Given the description of an element on the screen output the (x, y) to click on. 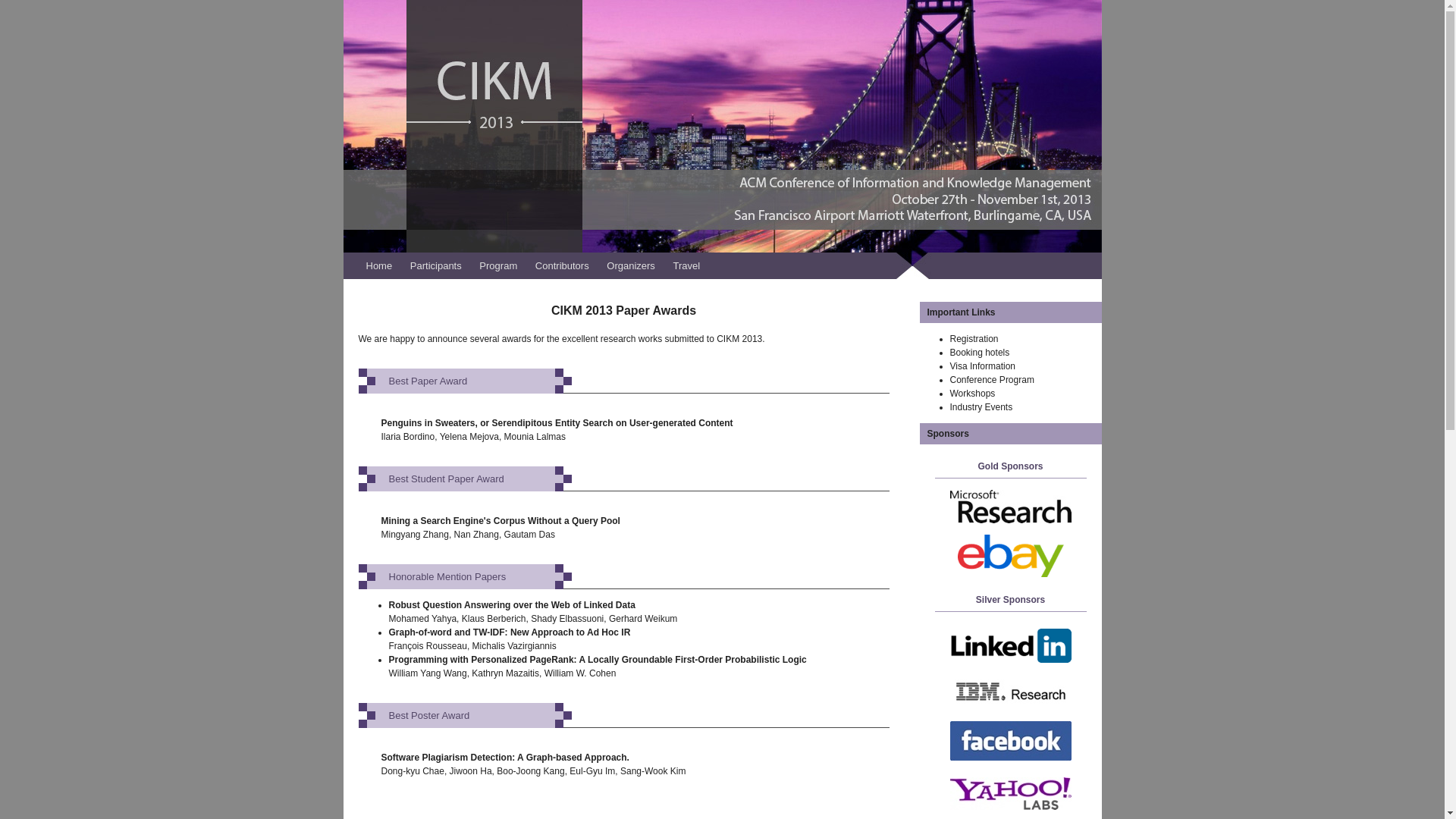
Home (378, 265)
Organizers (631, 265)
Workshops (971, 393)
Program (497, 265)
Registration (973, 338)
Industry Events (980, 407)
Booking hotels (979, 352)
Travel (686, 265)
Conference Program (991, 379)
Contributors (562, 265)
Participants (435, 265)
Visa Information (981, 366)
